Given the description of an element on the screen output the (x, y) to click on. 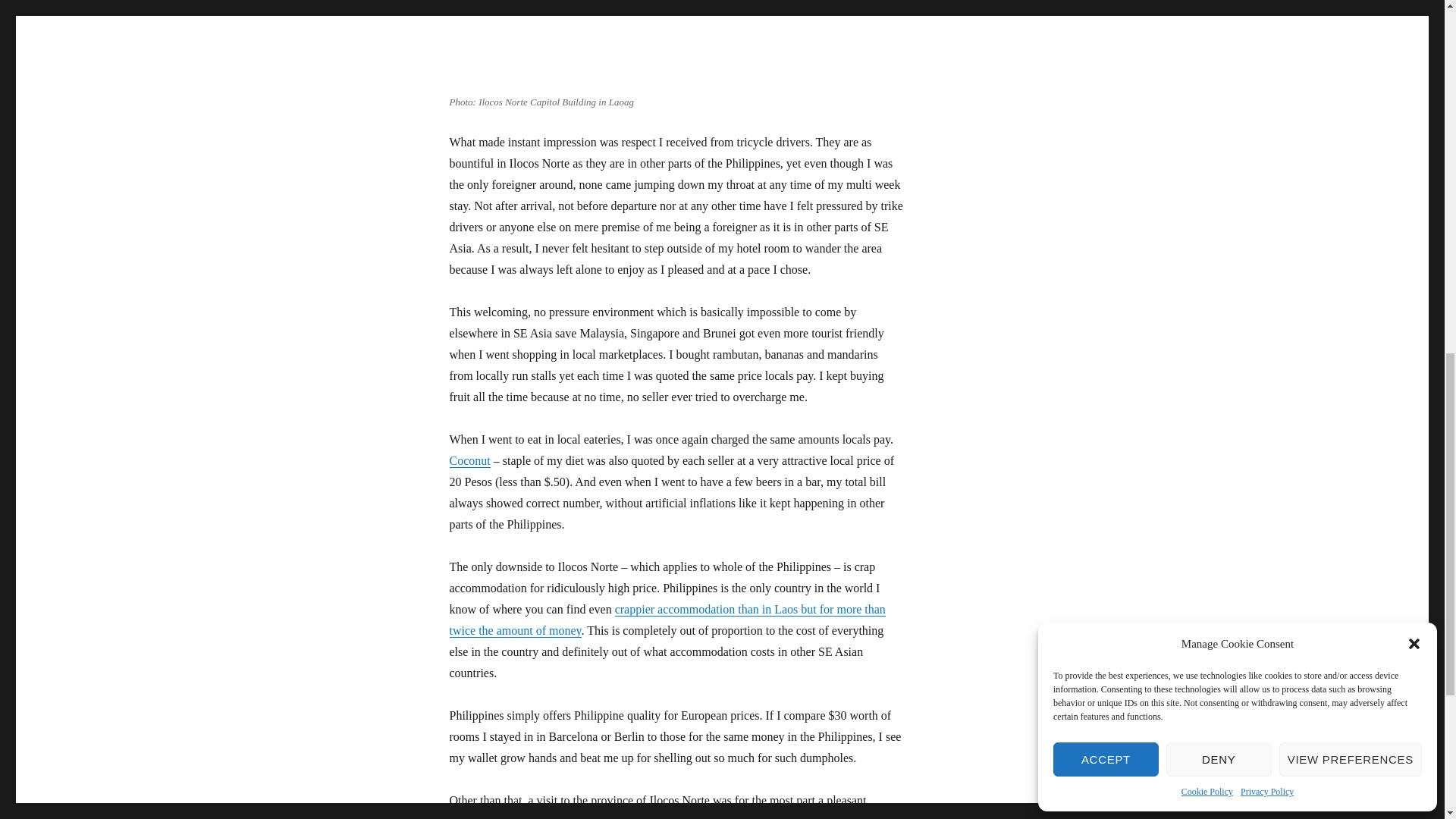
Coconut (468, 460)
Photo: Ilocos Norte Capitol Building in Laoag (638, 44)
Health Benefits of Coconut Water (468, 460)
Expensive But Crappy Accommodation in Laos (666, 619)
